Given the description of an element on the screen output the (x, y) to click on. 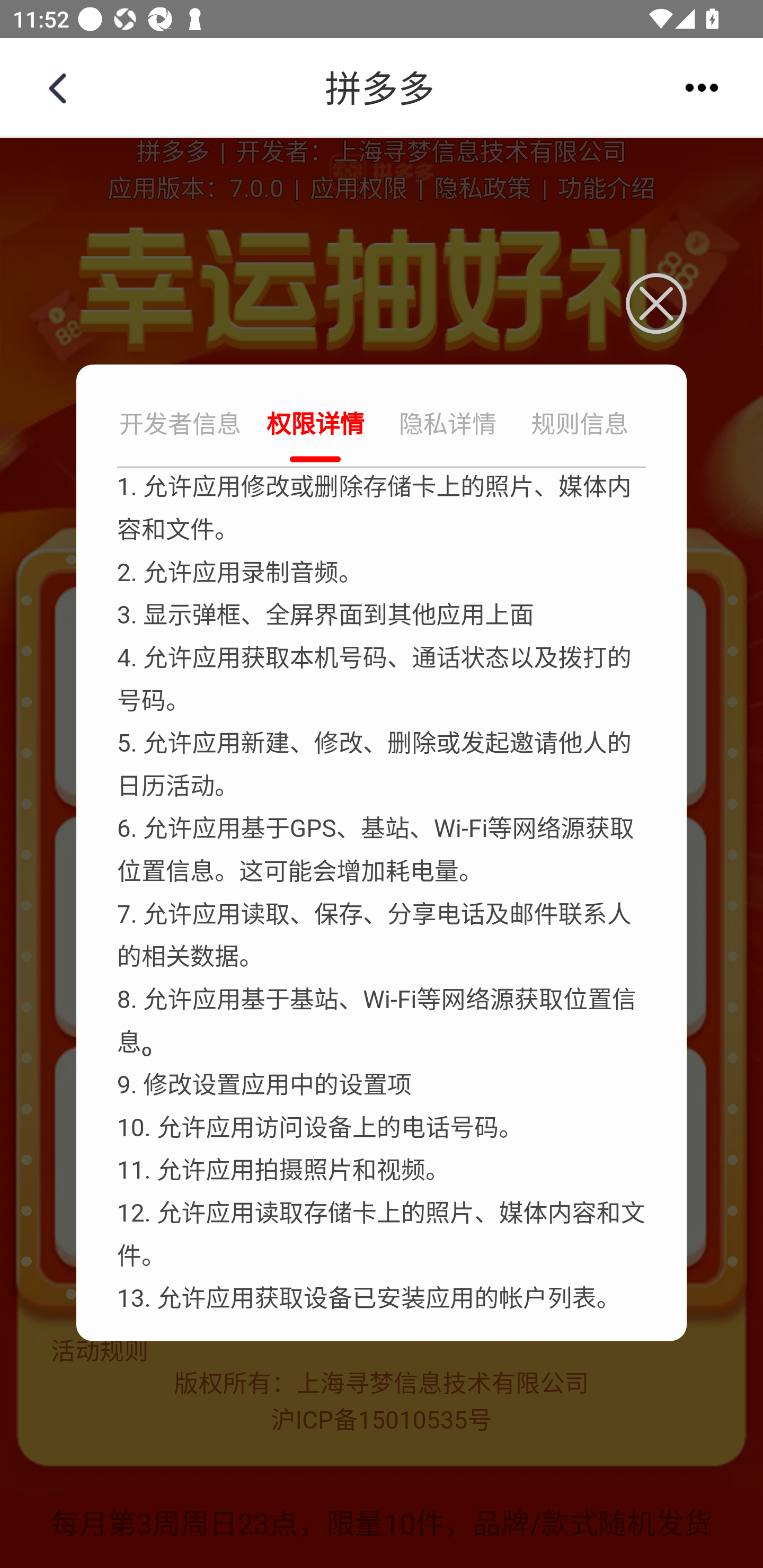
36987.0 (381, 87)
更多 (701, 86)
开发者信息  (182, 425)
权限详情 (315, 425)
隐私详情 (448, 425)
规则信息 (580, 425)
